Given the description of an element on the screen output the (x, y) to click on. 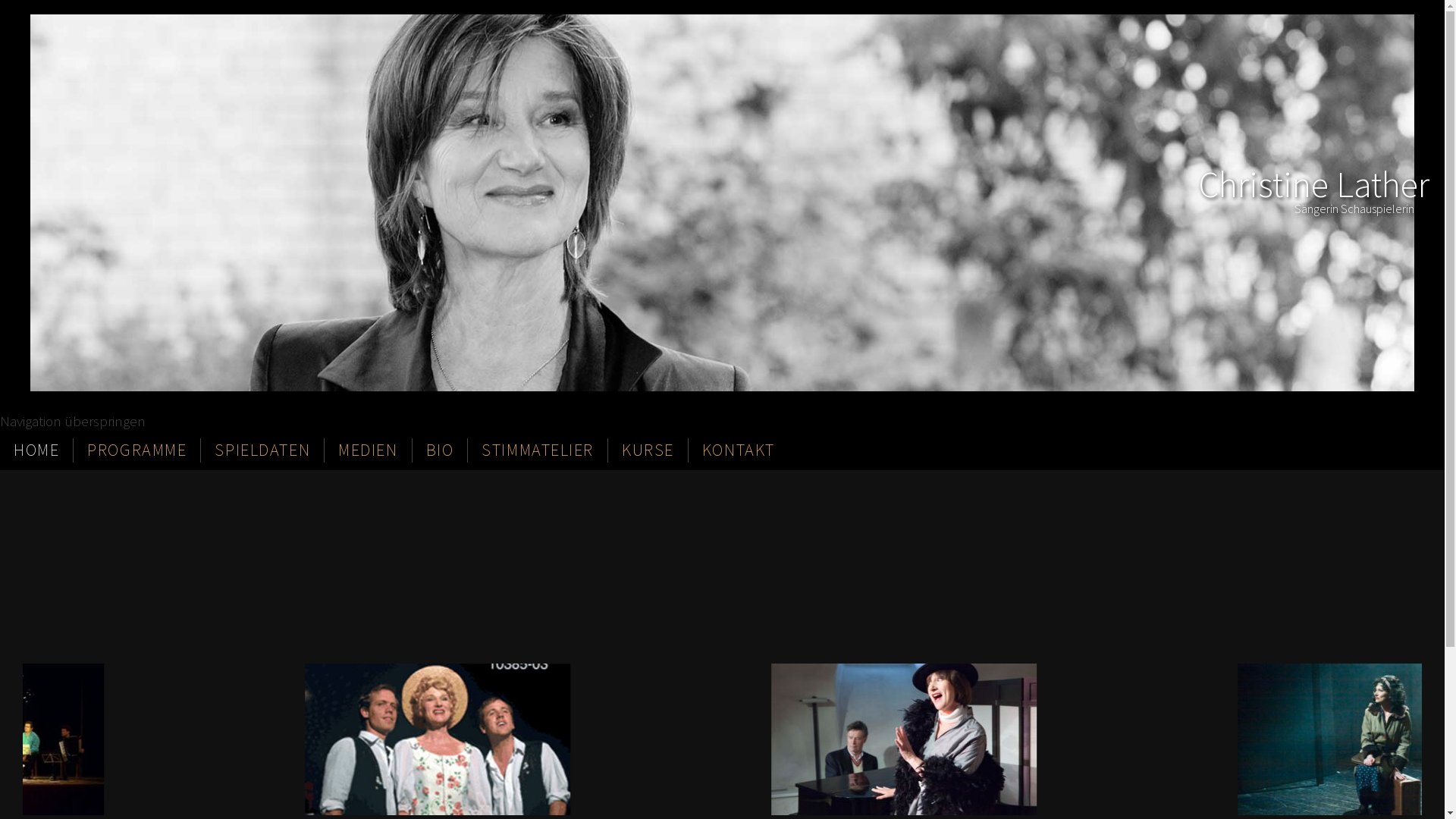
KURSE Element type: text (647, 449)
20171018-_DSC9386sw_03.jpg Element type: hover (722, 202)
SPIELDATEN Element type: text (261, 449)
BIO Element type: text (439, 449)
STIMMATELIER Element type: text (537, 449)
KONTAKT Element type: text (738, 449)
MEDIEN Element type: text (367, 449)
PROGRAMME Element type: text (136, 449)
